Given the description of an element on the screen output the (x, y) to click on. 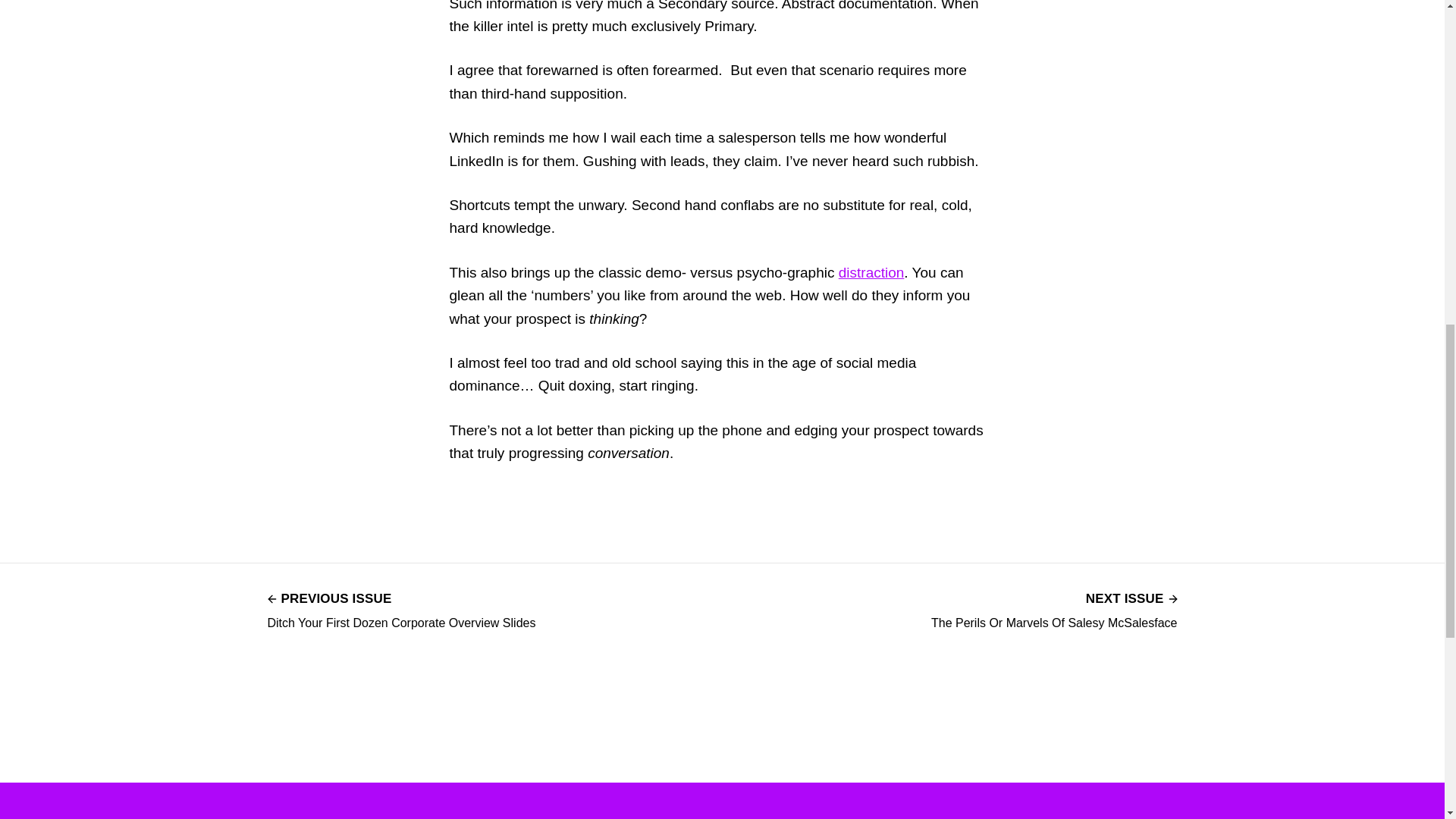
distraction (1054, 609)
